Given the description of an element on the screen output the (x, y) to click on. 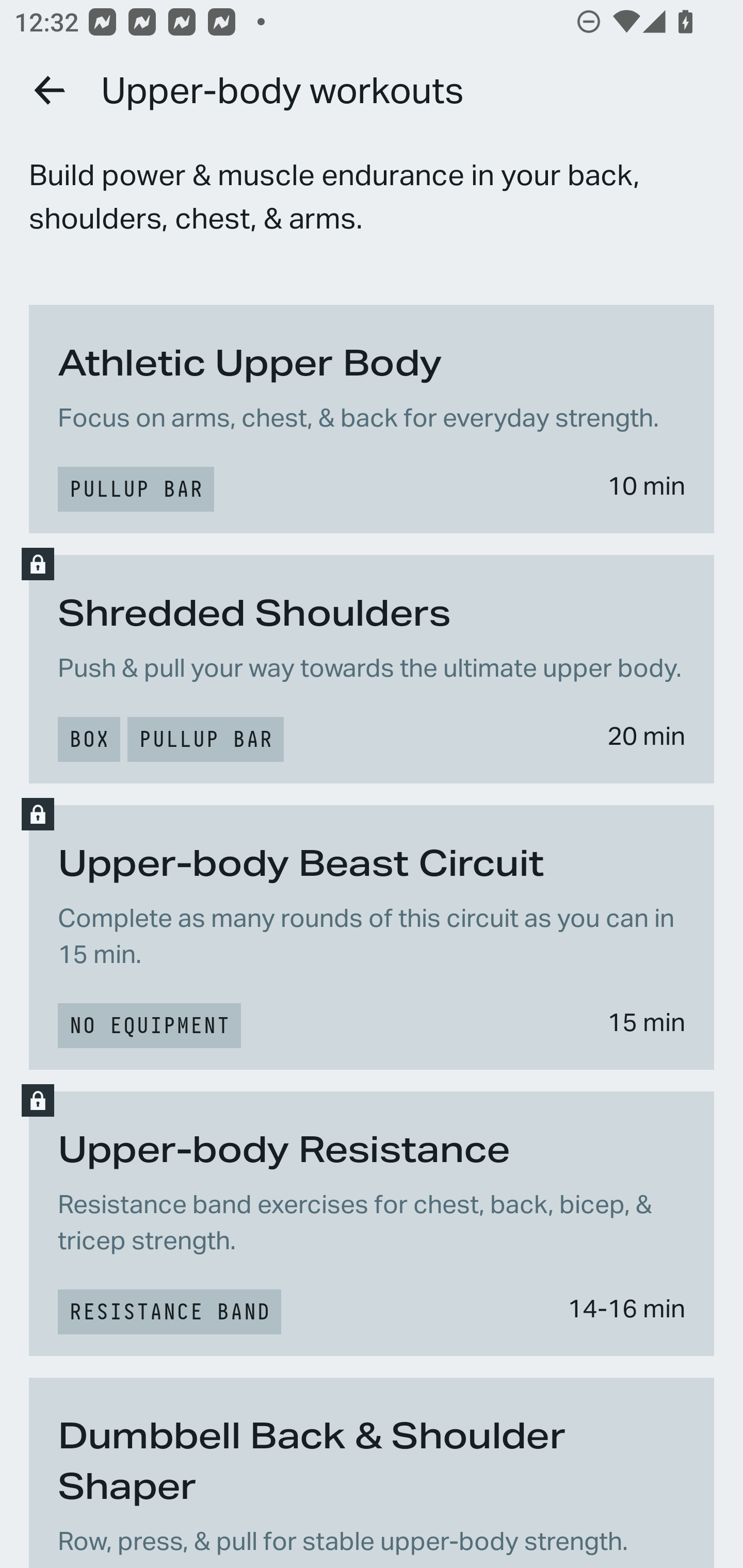
Go back (50, 90)
